Given the description of an element on the screen output the (x, y) to click on. 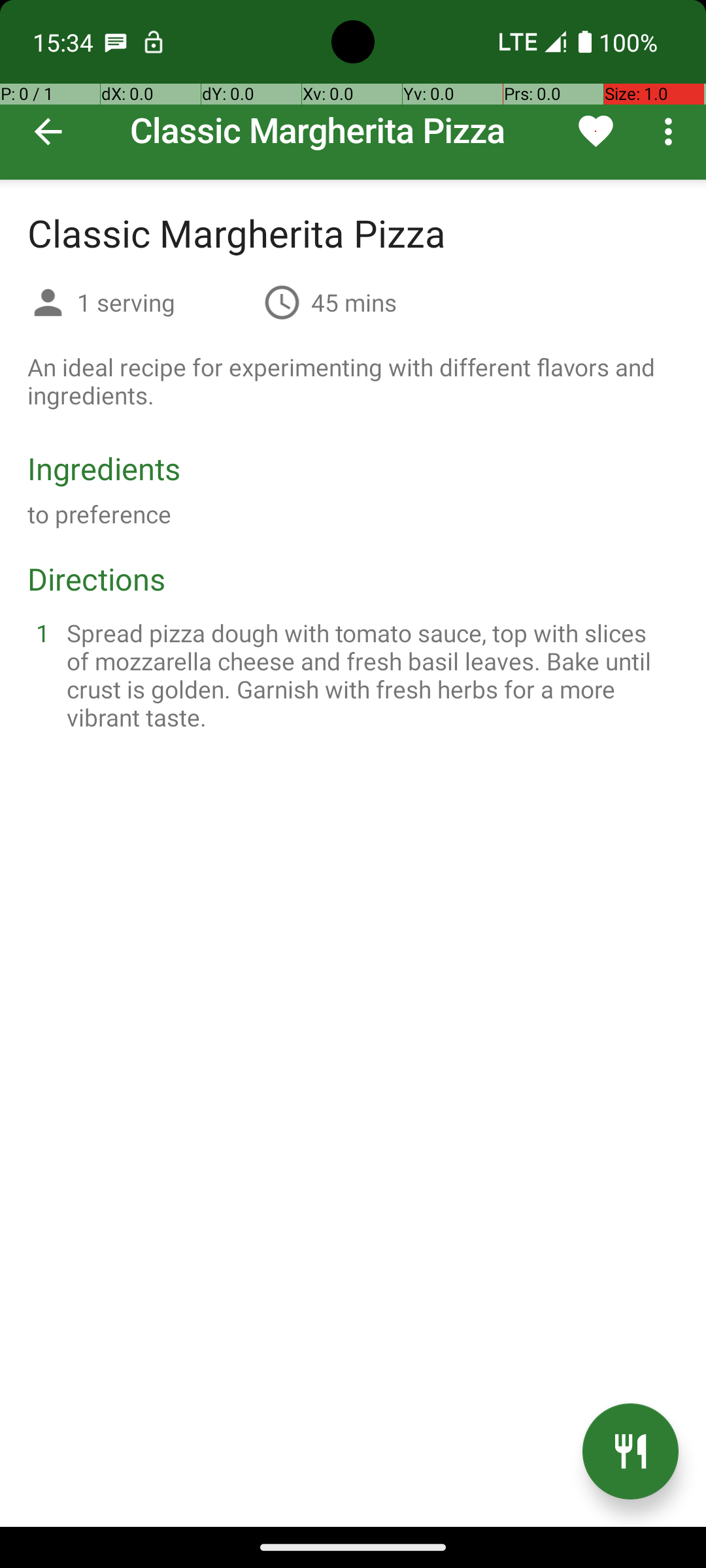
Spread pizza dough with tomato sauce, top with slices of mozzarella cheese and fresh basil leaves. Bake until crust is golden. Garnish with fresh herbs for a more vibrant taste. Element type: android.widget.TextView (368, 674)
